Given the description of an element on the screen output the (x, y) to click on. 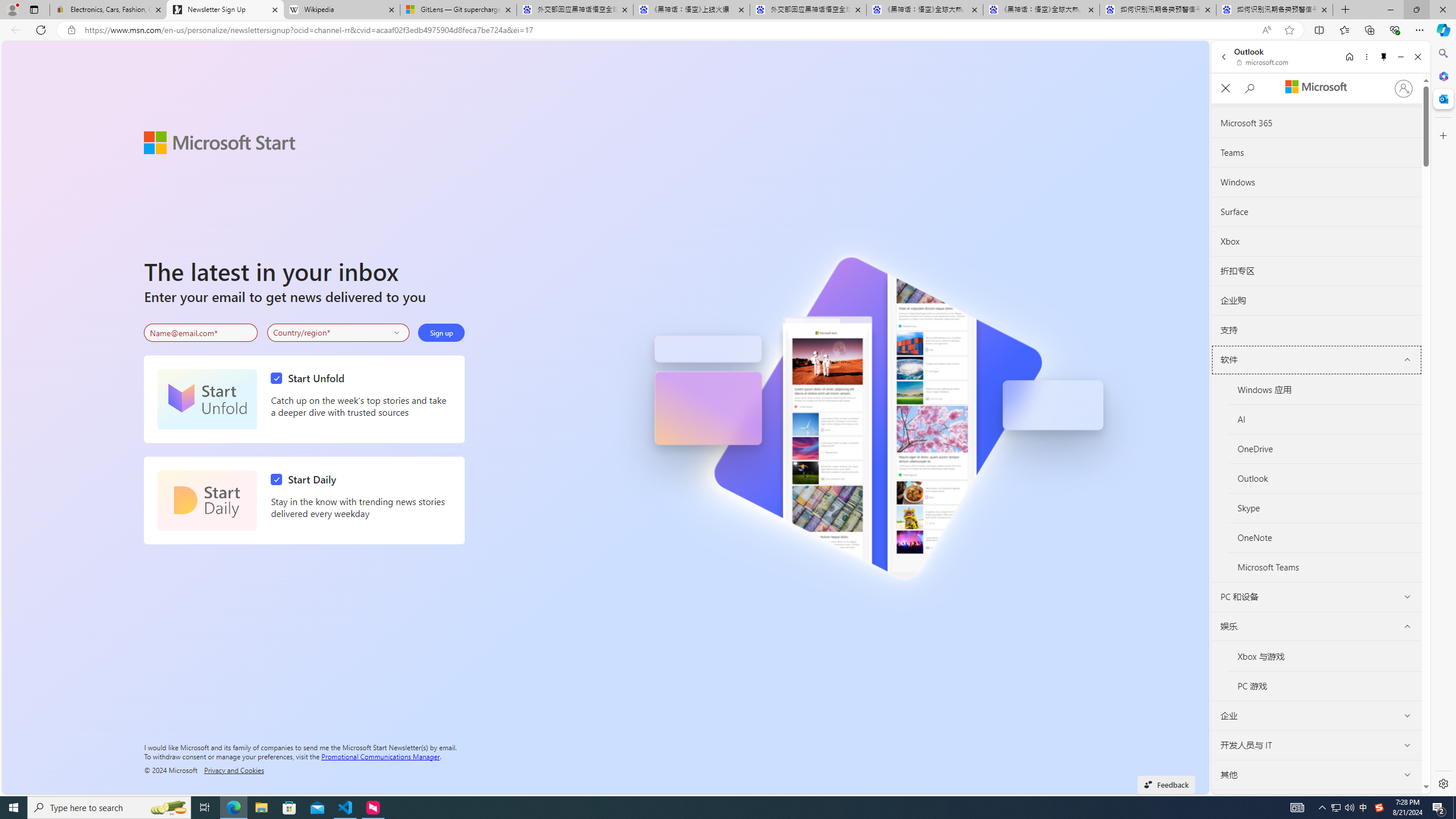
Start Daily (207, 500)
OneNote (1324, 538)
